Given the description of an element on the screen output the (x, y) to click on. 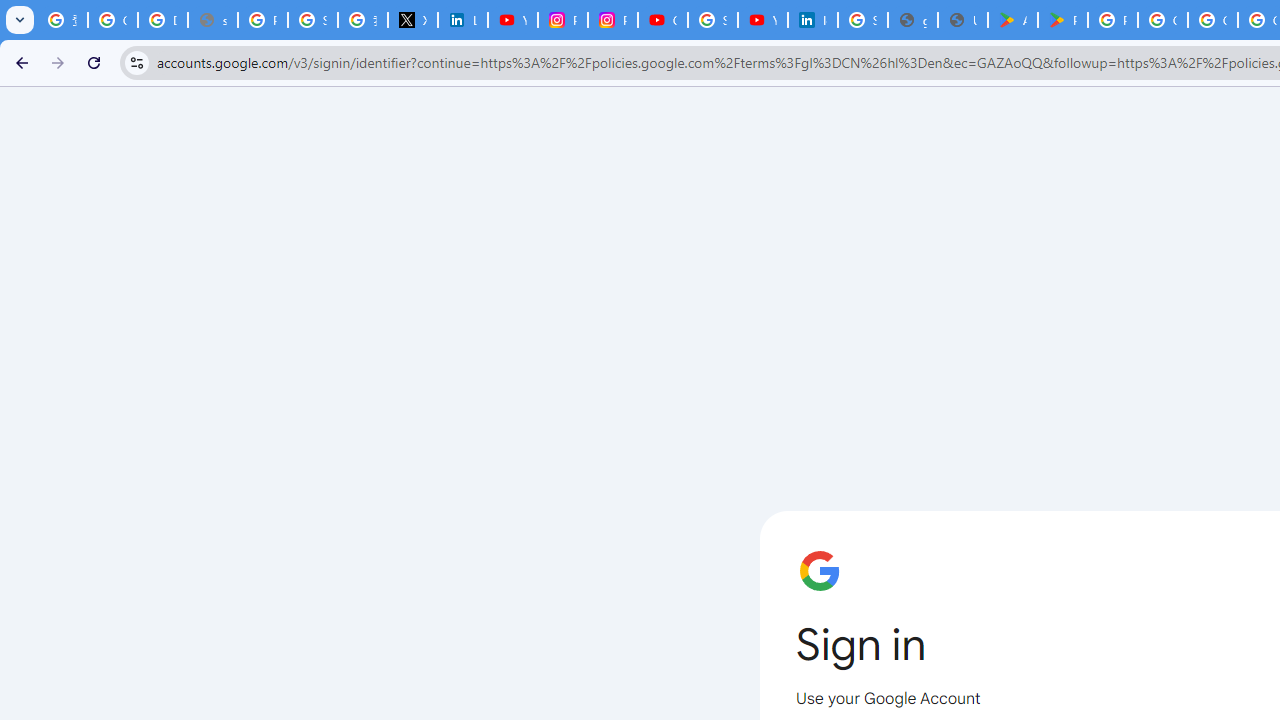
User Details (963, 20)
YouTube Content Monetization Policies - How YouTube Works (512, 20)
X (412, 20)
